Given the description of an element on the screen output the (x, y) to click on. 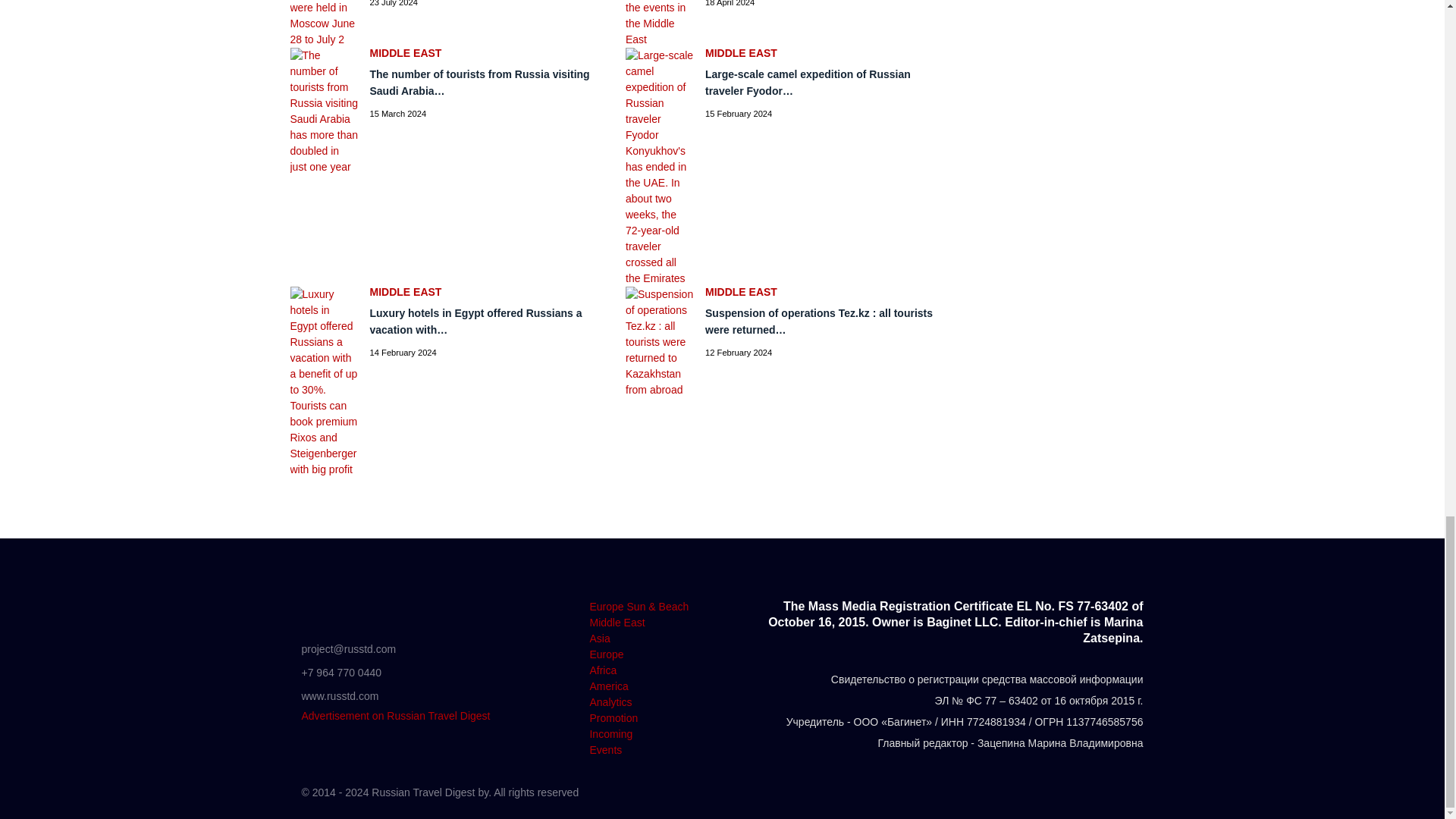
MIDDLE EAST (821, 52)
MIDDLE EAST (486, 52)
MIDDLE EAST (486, 291)
